Given the description of an element on the screen output the (x, y) to click on. 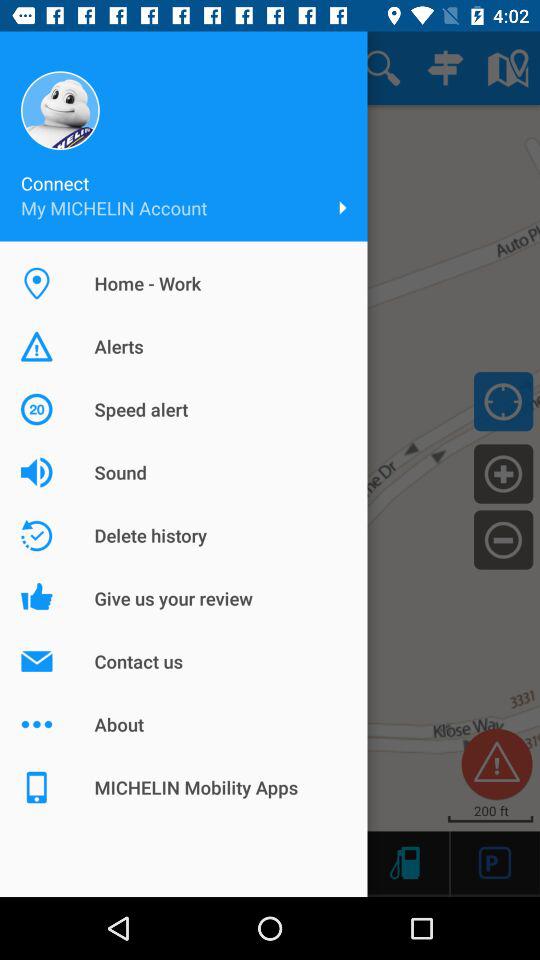
find parking (494, 862)
